Given the description of an element on the screen output the (x, y) to click on. 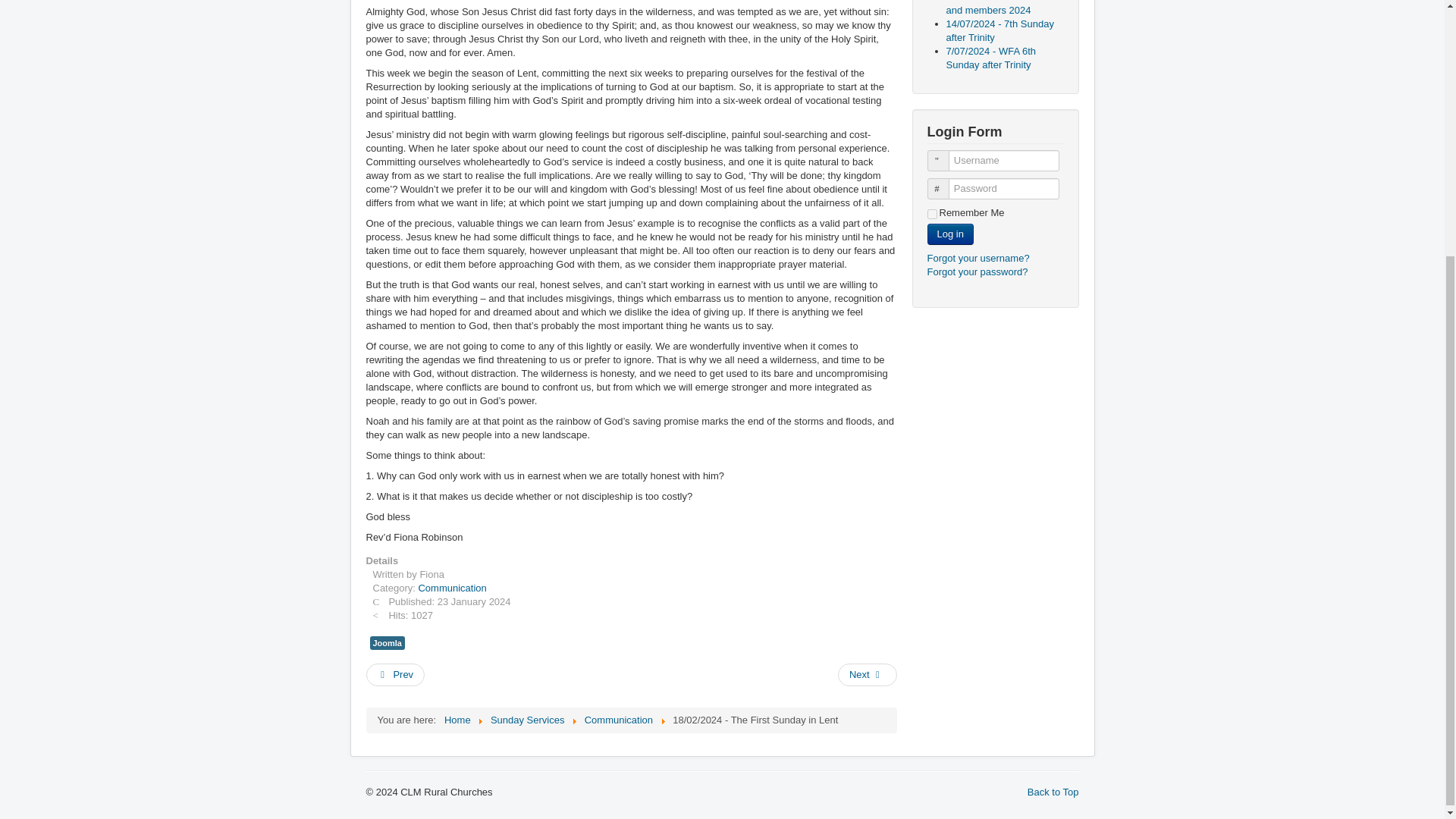
Sunday Services (527, 719)
Forgot your username? (977, 257)
Back to Top (1052, 791)
Forgot your password? (976, 271)
Communication (451, 587)
Log in (949, 233)
Home (457, 719)
yes (931, 214)
Next (867, 674)
Communication (618, 719)
Joomla (386, 643)
Prev (395, 674)
